Given the description of an element on the screen output the (x, y) to click on. 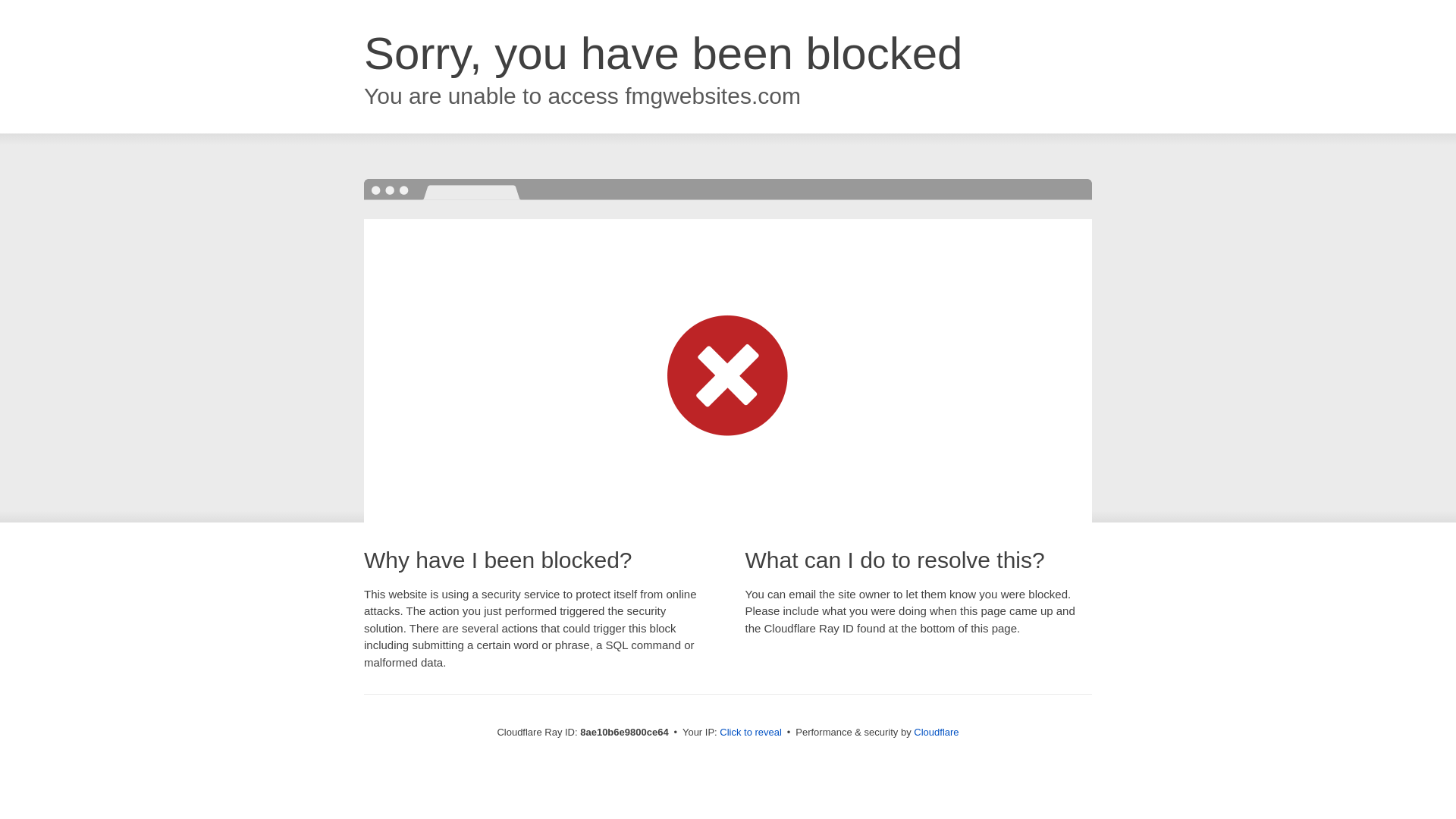
Cloudflare (936, 731)
Click to reveal (750, 732)
